Given the description of an element on the screen output the (x, y) to click on. 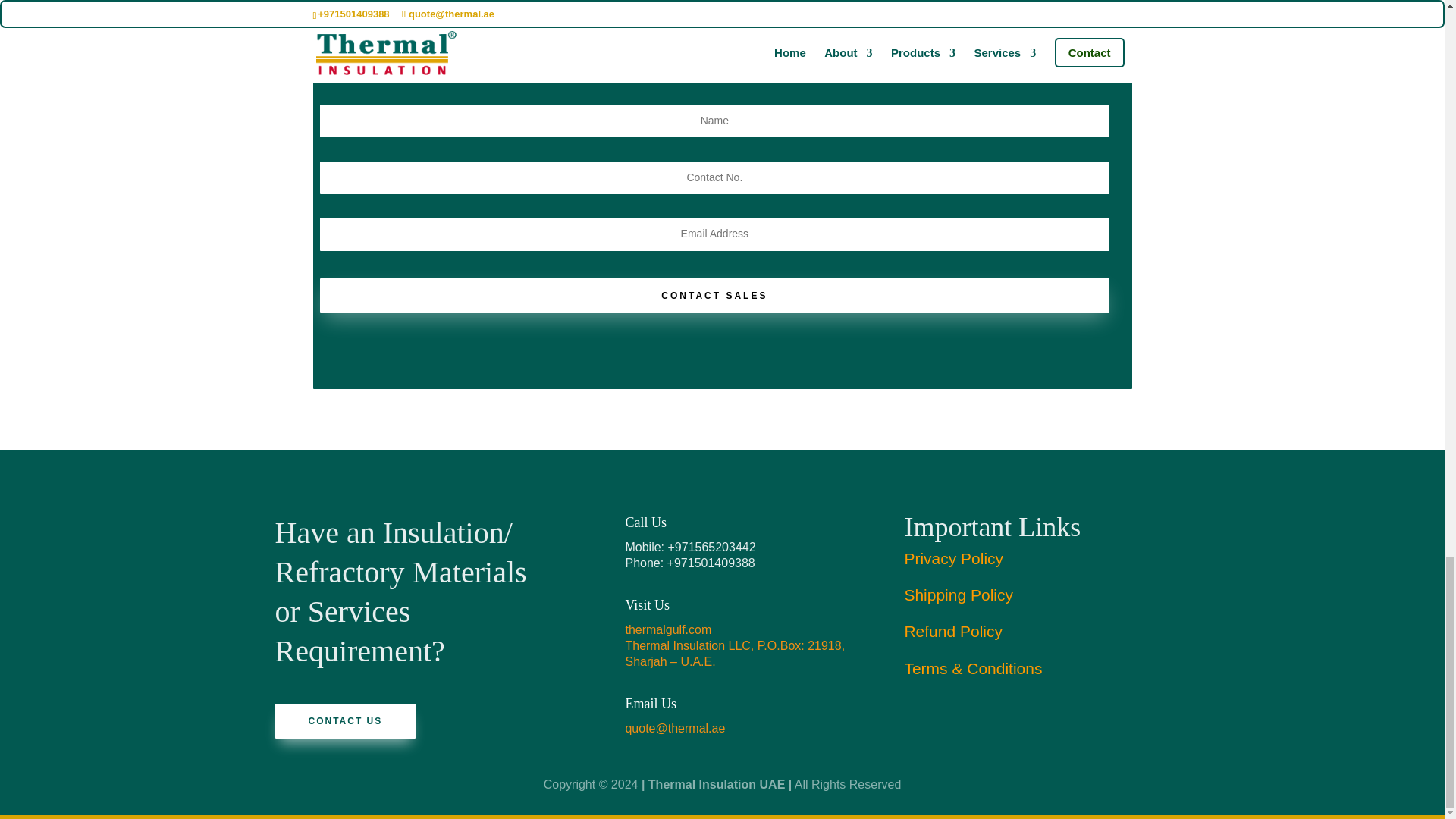
CONTACT US (344, 719)
CONTACT SALES (714, 295)
